Given the description of an element on the screen output the (x, y) to click on. 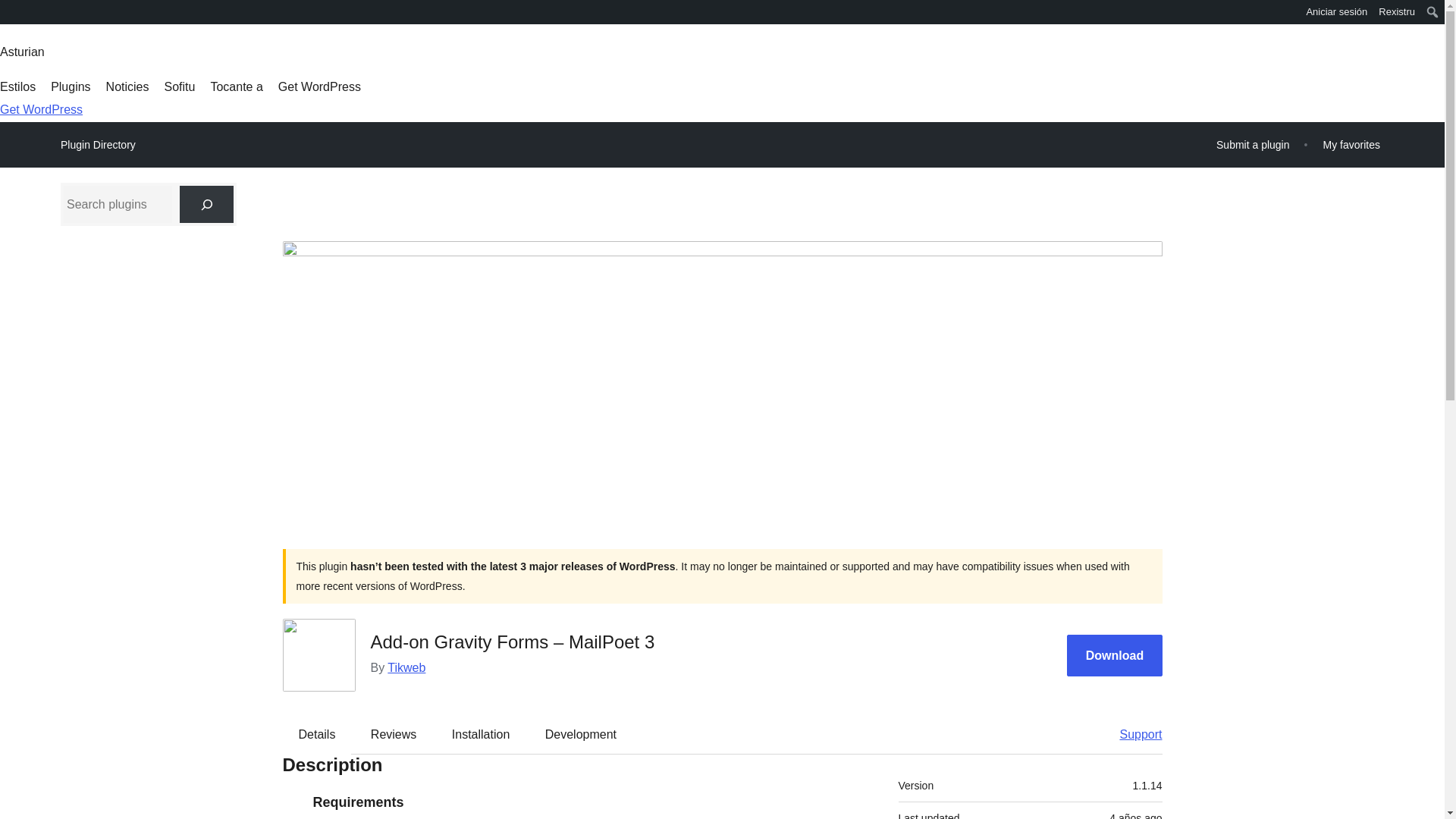
Sofitu (179, 87)
WordPress.org (10, 16)
Get WordPress (41, 109)
Plugin Directory (97, 144)
Plugins (70, 87)
Guetar (16, 13)
Development (580, 733)
Reviews (392, 733)
Get WordPress (319, 87)
Rexistru (1397, 12)
Noticies (127, 87)
Estilos (17, 87)
Tikweb (406, 667)
Submit a plugin (1253, 144)
My favorites (1351, 144)
